Given the description of an element on the screen output the (x, y) to click on. 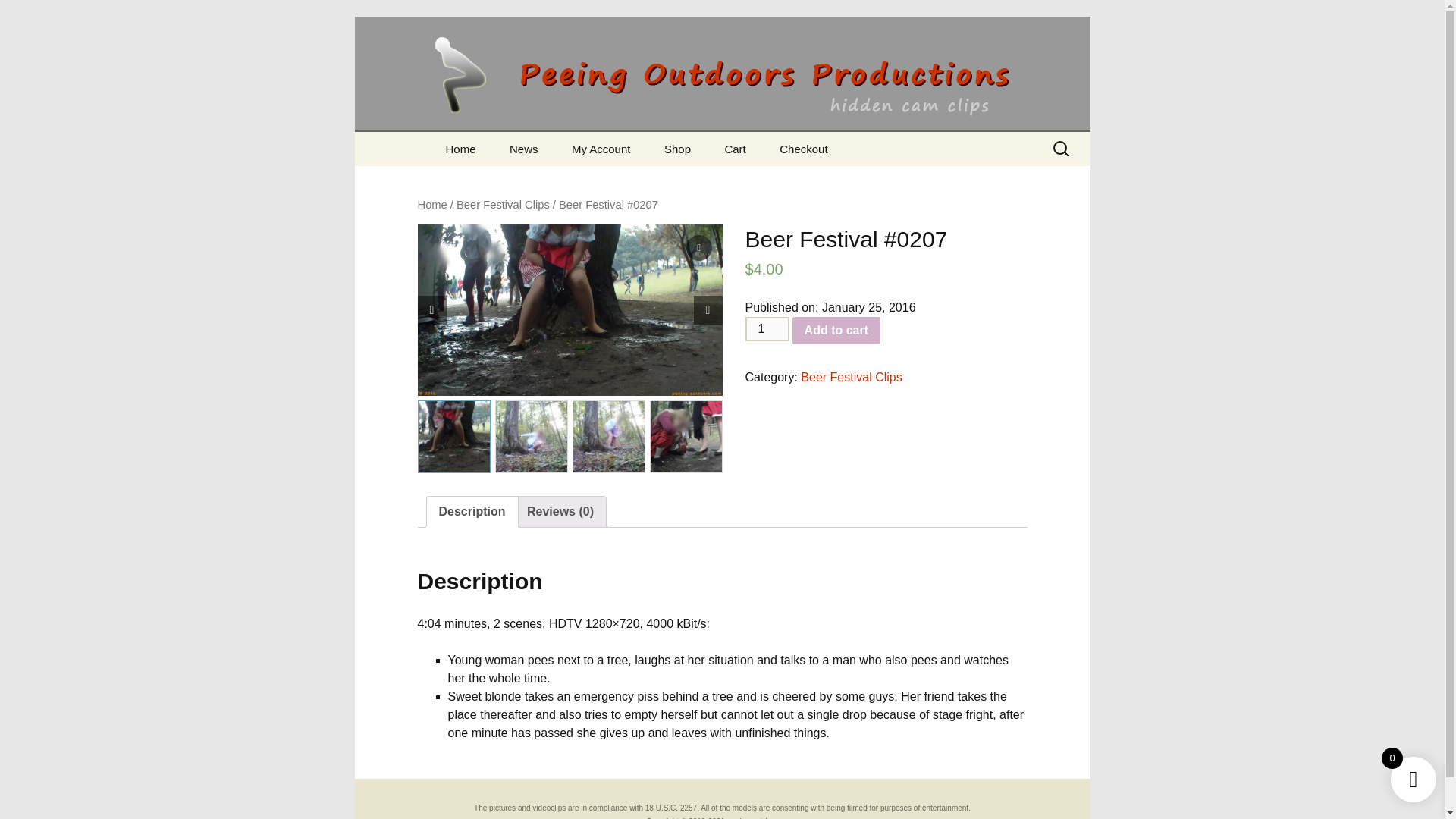
Search (18, 15)
Beer Festival Clips (850, 377)
Peeing Outdoors Productions (722, 65)
News (524, 148)
Checkout (803, 148)
My Account (601, 148)
Add to cart (836, 329)
Peeing Outdoors Productions (722, 65)
Home (431, 204)
Beer Festival Clips (503, 204)
Cart (734, 148)
Description (471, 511)
Register (631, 182)
